Given the description of an element on the screen output the (x, y) to click on. 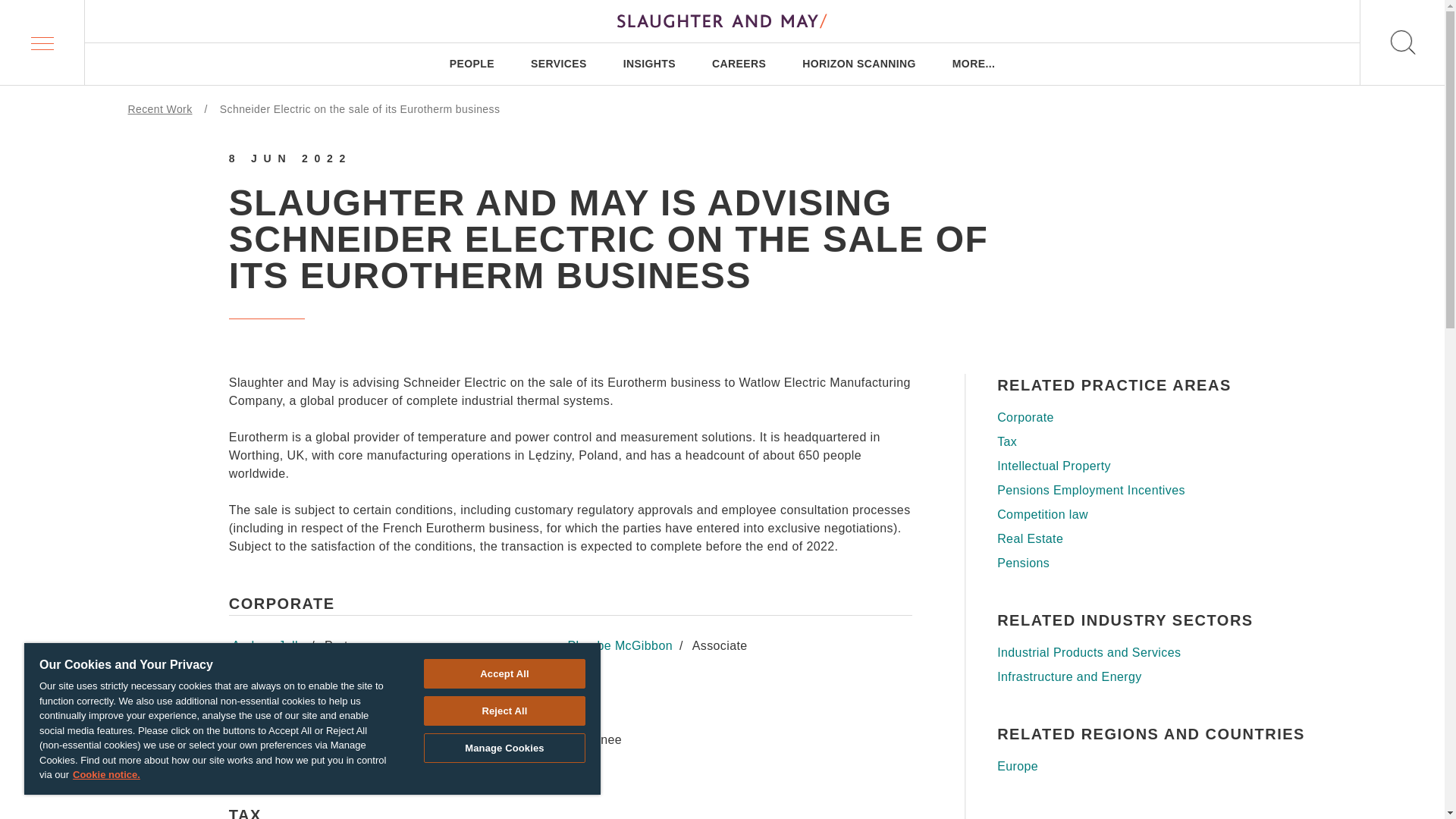
Beijing (759, 570)
Amina Flynn (266, 687)
SERVICES (558, 64)
People (217, 367)
Andrew Jolly (267, 645)
Hong Kong (1029, 570)
Home (212, 324)
Careers (221, 497)
INSIGHTS (649, 64)
Infrastructure and Energy (1156, 677)
Insights (220, 454)
Real Estate (1156, 538)
Brussels (514, 570)
Competition law (1156, 515)
HORIZON SCANNING (858, 64)
